Given the description of an element on the screen output the (x, y) to click on. 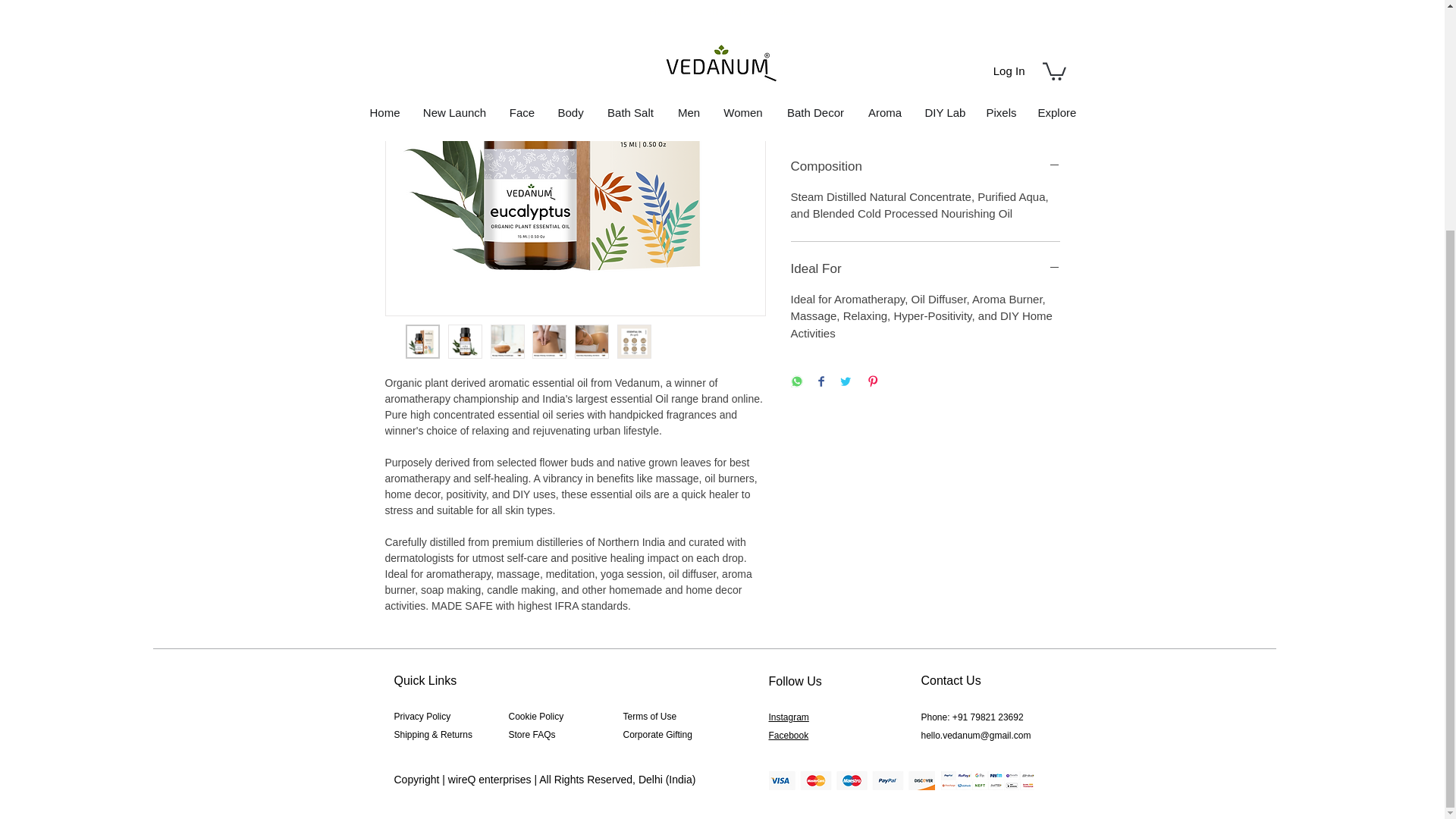
1 (818, 51)
